Given the description of an element on the screen output the (x, y) to click on. 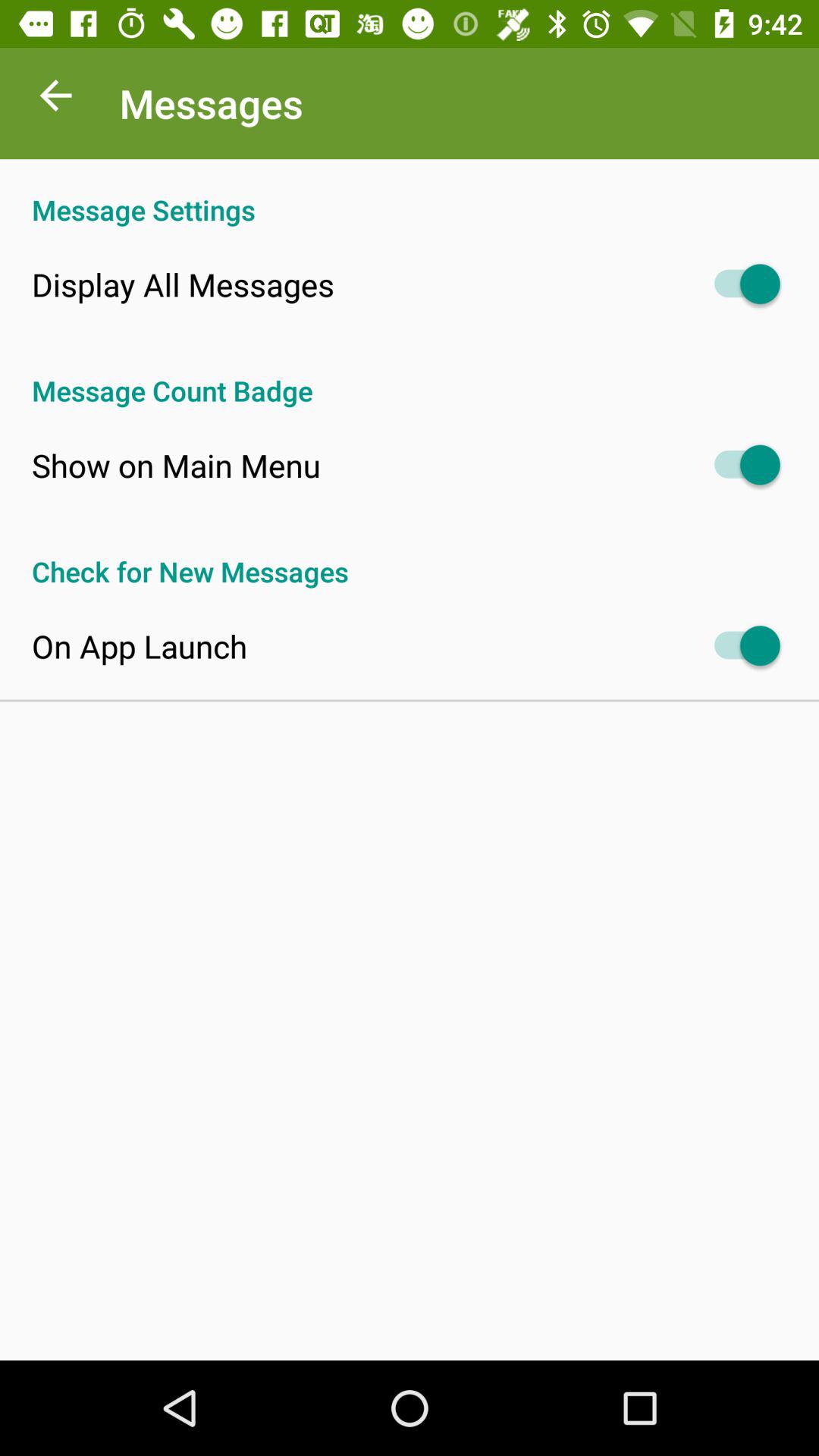
turn on icon to the left of the messages item (55, 99)
